Given the description of an element on the screen output the (x, y) to click on. 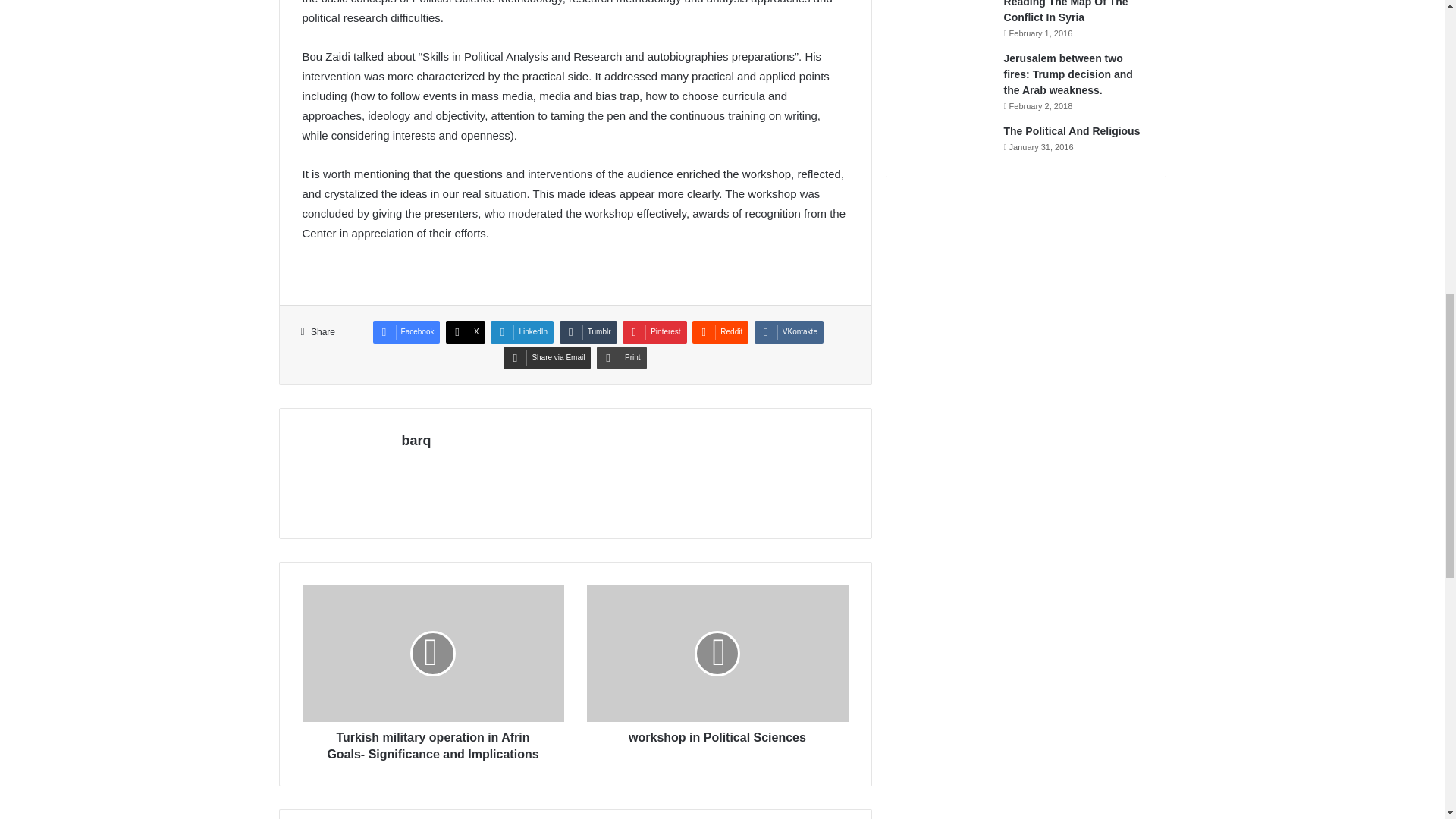
X (464, 332)
Tumblr (588, 332)
LinkedIn (521, 332)
Reddit (720, 332)
Pinterest (654, 332)
Facebook (406, 332)
VKontakte (789, 332)
